Given the description of an element on the screen output the (x, y) to click on. 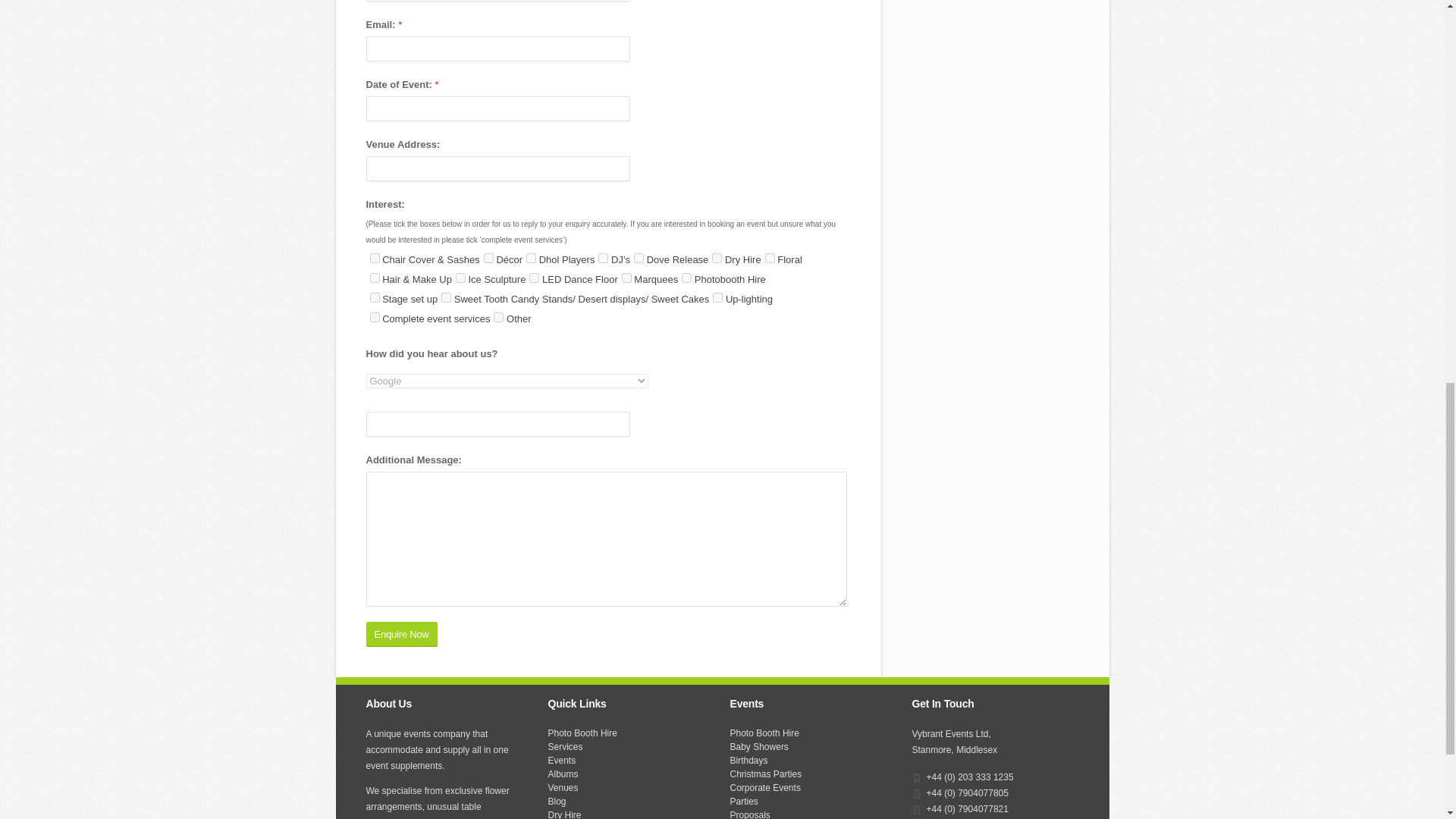
Ice Sculpture (460, 277)
Stage set up (374, 297)
Dhol Players (530, 257)
Marquees (626, 277)
LED Dance Floor (533, 277)
Dry Hire (716, 257)
Photobooth Hire (686, 277)
Floral (769, 257)
Dove Release (638, 257)
